Given the description of an element on the screen output the (x, y) to click on. 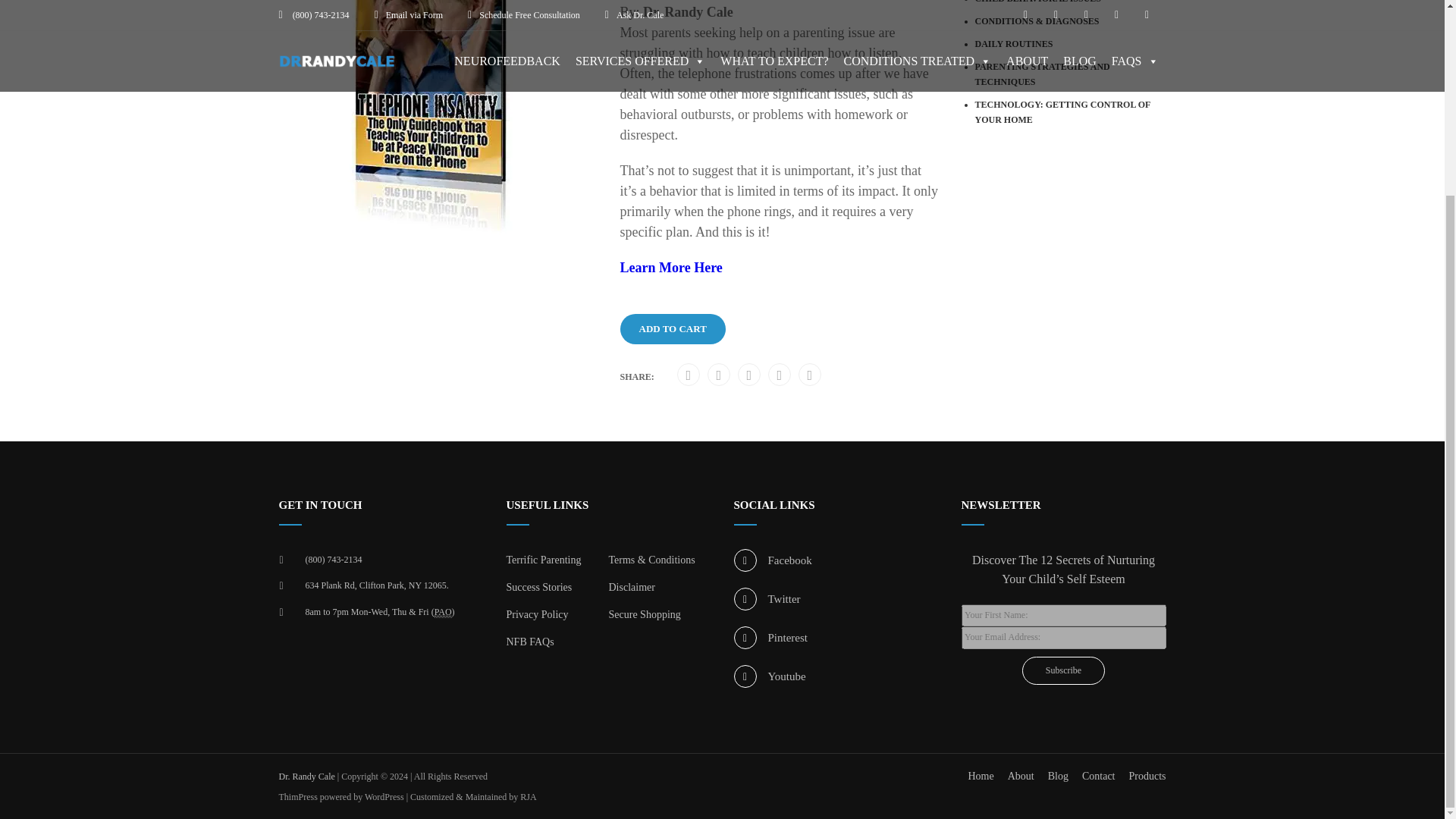
Phone Appointments Only (442, 611)
Login (724, 146)
Subscribe (1063, 670)
